Given the description of an element on the screen output the (x, y) to click on. 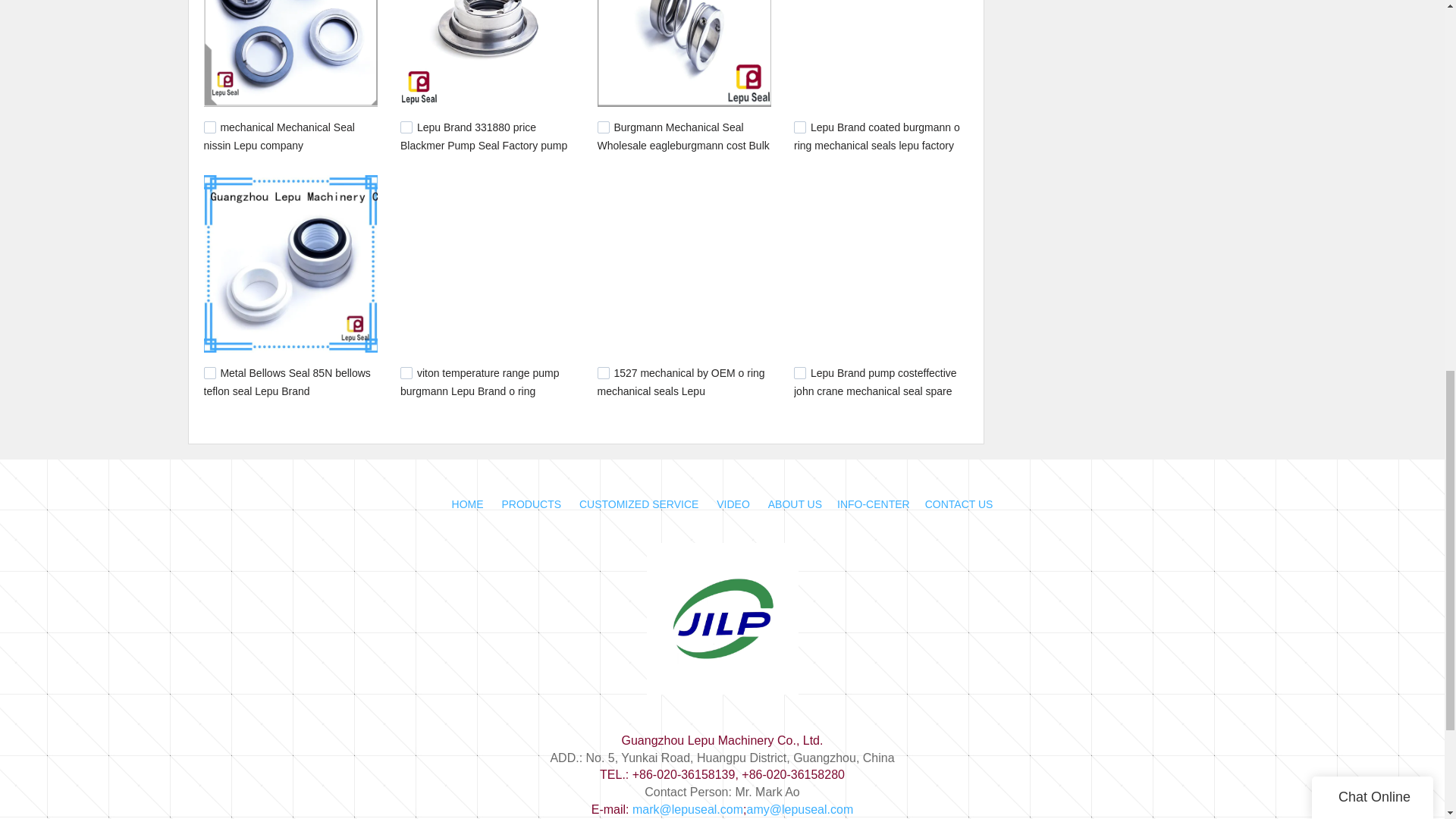
619 (603, 372)
594 (799, 372)
749 (406, 127)
732 (603, 127)
664 (799, 127)
653 (209, 372)
